Given the description of an element on the screen output the (x, y) to click on. 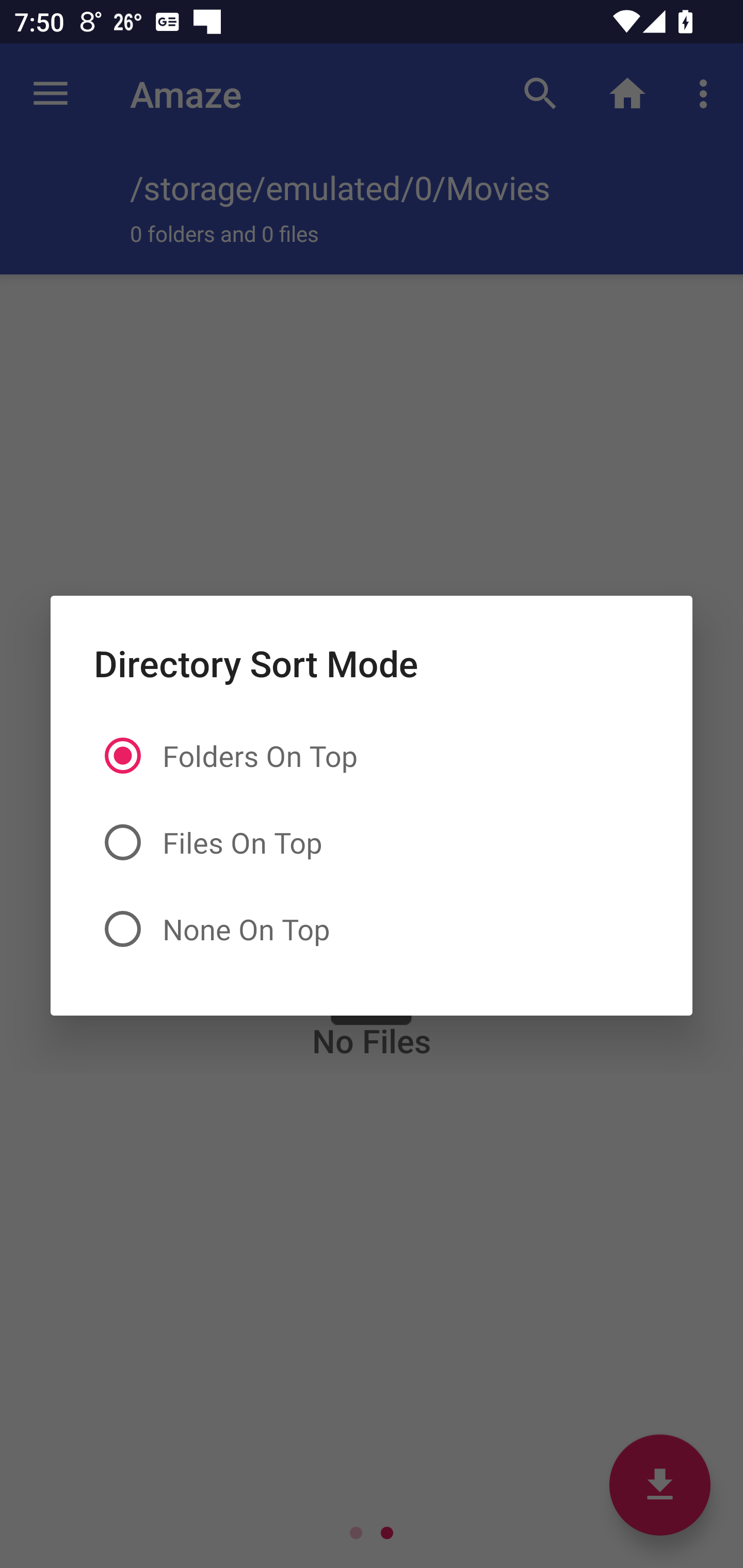
Folders On Top (371, 755)
Files On Top (371, 842)
None On Top (371, 928)
